Given the description of an element on the screen output the (x, y) to click on. 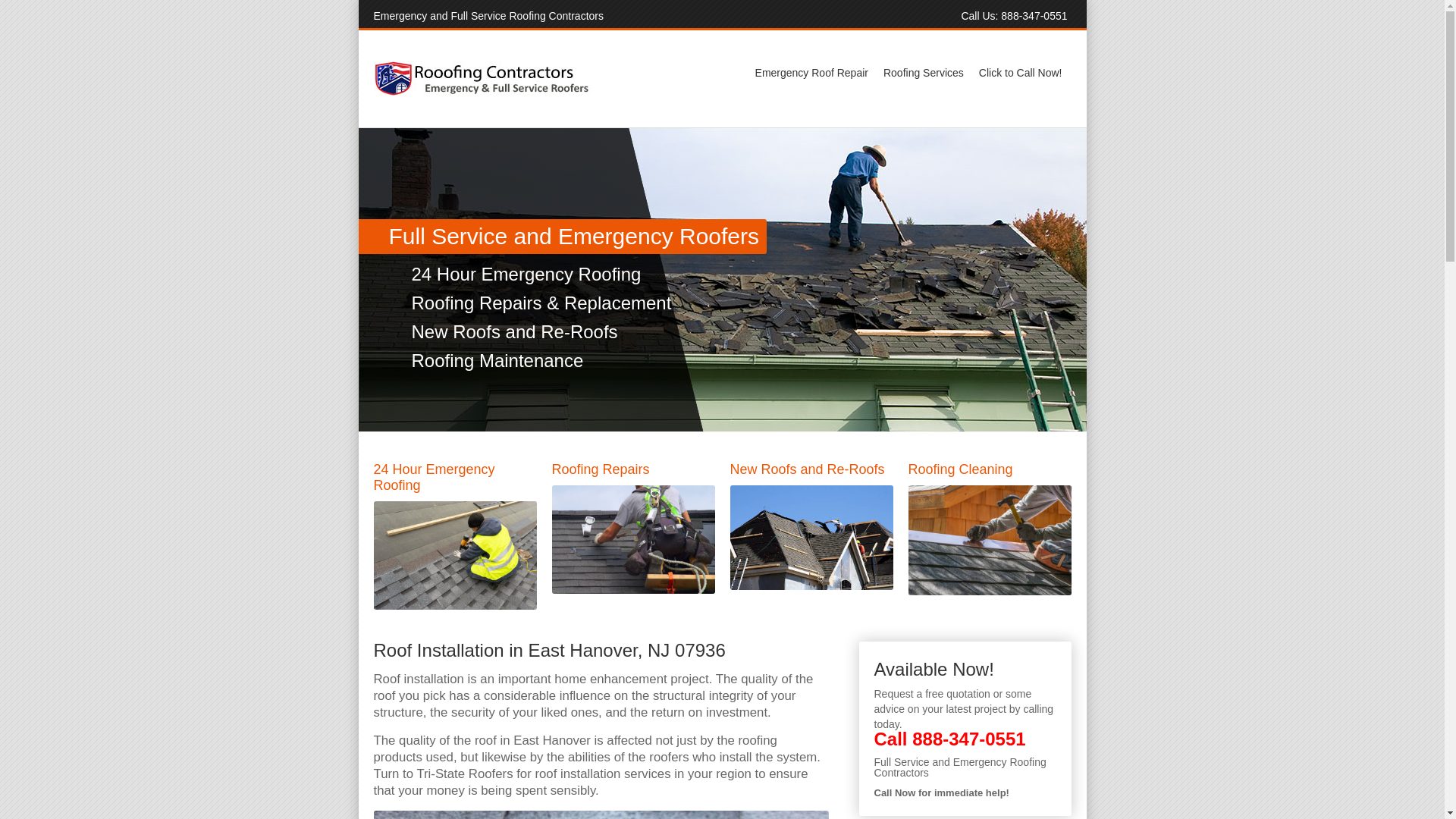
Roof Installation in East Hanover, New Jersey (600, 814)
Full Service and Emergency Roofers (179, 279)
Roofing Services (923, 72)
888-347-0551 (968, 738)
888-347-0551 (1034, 15)
Click to Call Now! (1020, 72)
Emergency Roof Repair (812, 72)
